Given the description of an element on the screen output the (x, y) to click on. 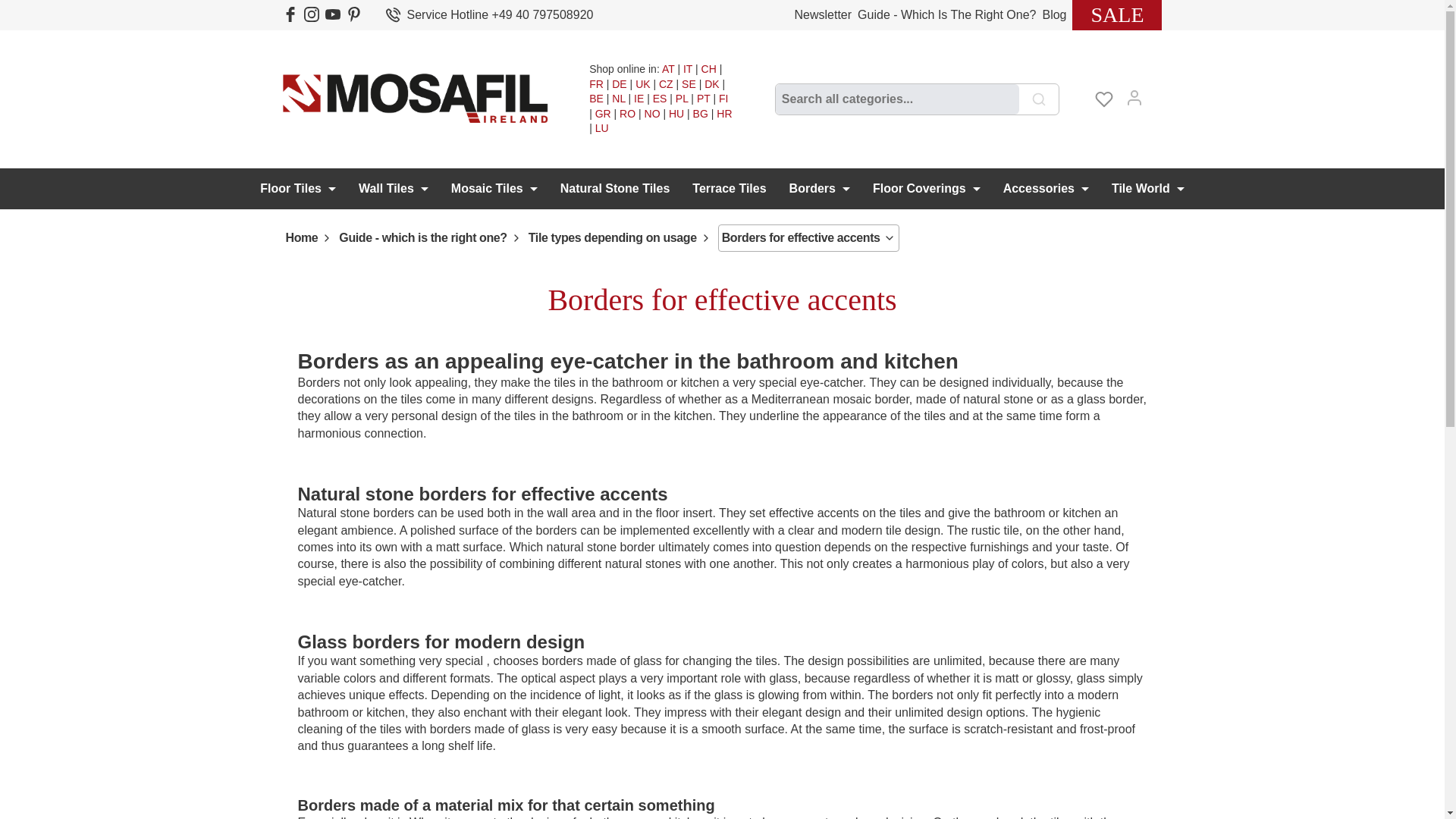
Blog (1053, 14)
Guide - Which Is The Right One? (946, 14)
CZ (665, 83)
Mosafil France (596, 83)
HR (724, 113)
AT (668, 69)
Guide - which is the right one? (946, 14)
Newsletter (822, 14)
SALE (1116, 14)
RO (627, 113)
